Given the description of an element on the screen output the (x, y) to click on. 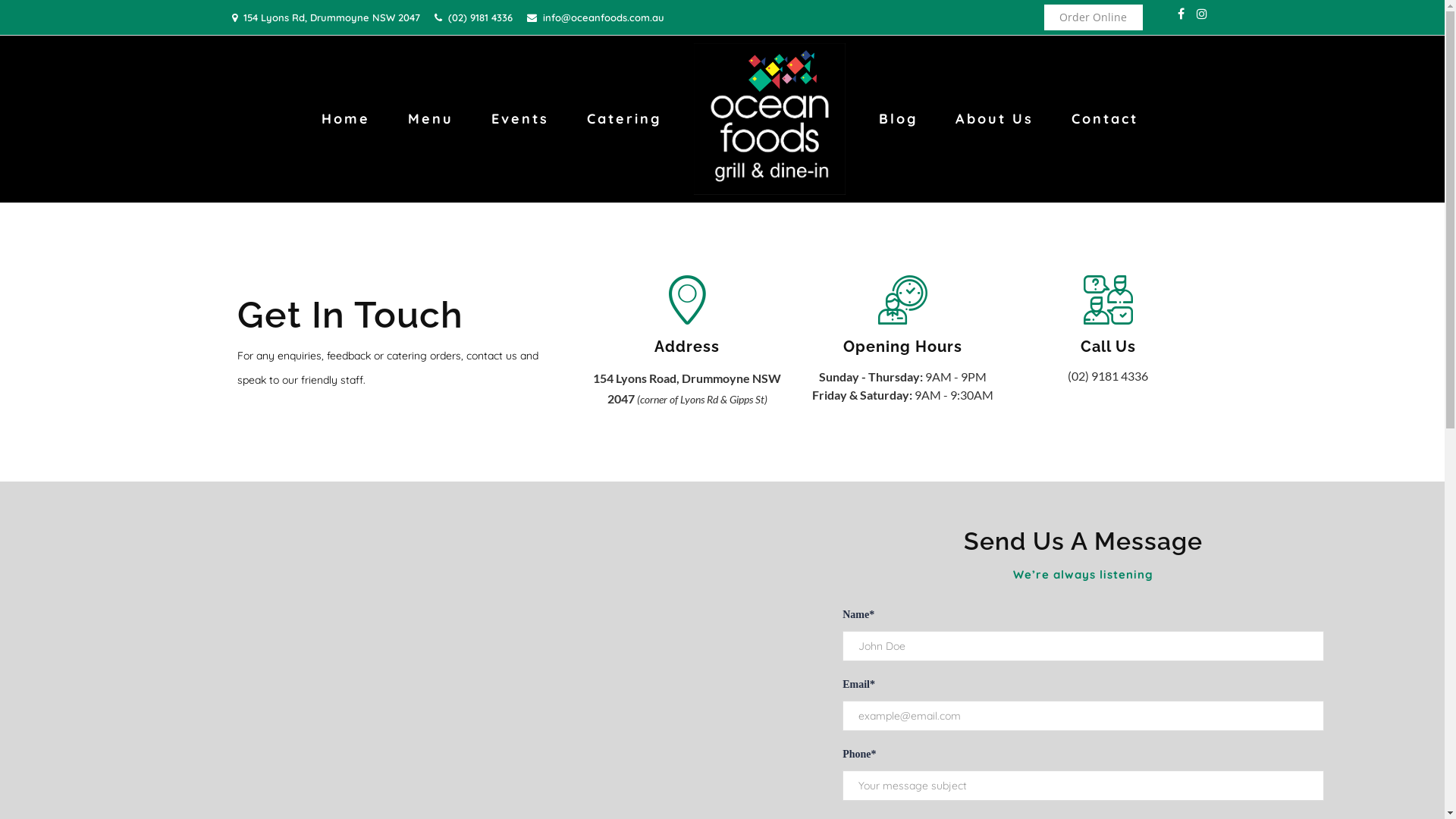
Catering Element type: text (623, 118)
Instagram Element type: hover (1201, 13)
Contact Element type: text (1104, 118)
Order Online Element type: text (1092, 17)
Events Element type: text (520, 118)
Blog Element type: text (897, 118)
Home Element type: text (345, 118)
info@oceanfoods.com.au Element type: text (603, 17)
Facebook Element type: hover (1180, 13)
Menu Element type: text (430, 118)
About Us Element type: text (994, 118)
